Given the description of an element on the screen output the (x, y) to click on. 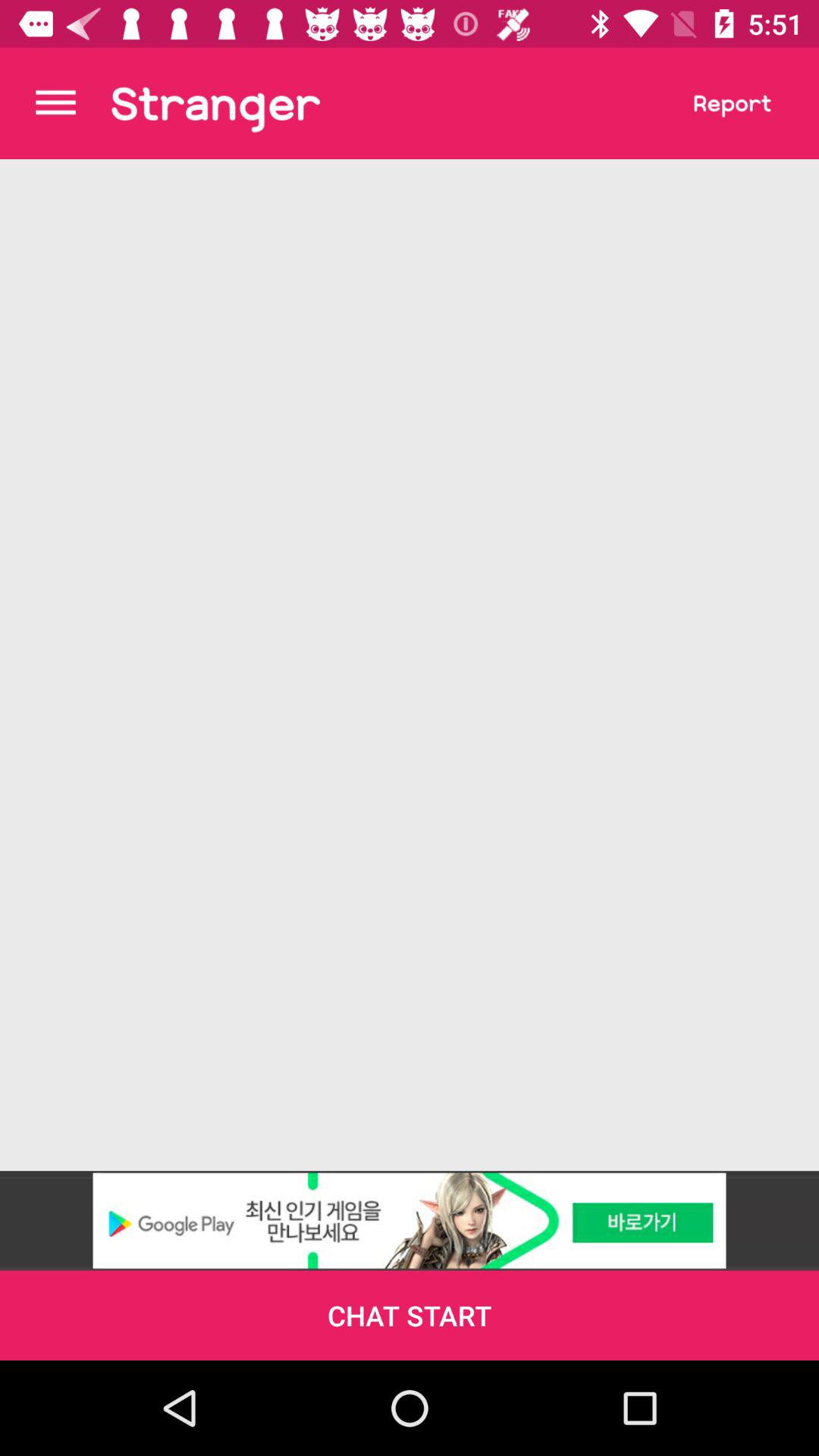
open the chat start icon (409, 1315)
